Given the description of an element on the screen output the (x, y) to click on. 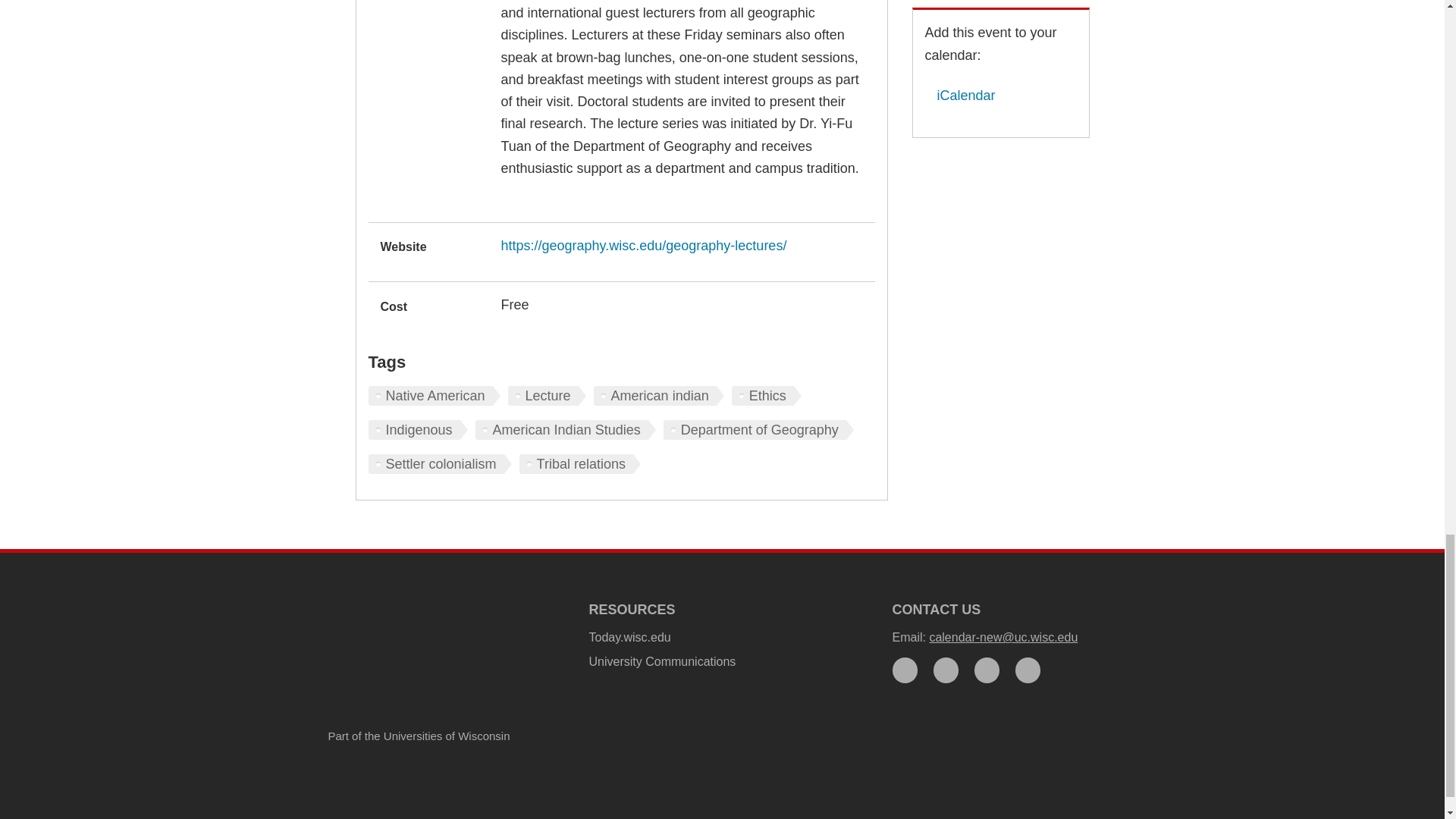
Tribal relations (579, 464)
American Indian Studies (566, 429)
Settler colonialism (440, 464)
Department of Geography (758, 429)
Ethics (767, 395)
American indian (658, 395)
Lecture (547, 395)
Indigenous (417, 429)
Native American (434, 395)
